Given the description of an element on the screen output the (x, y) to click on. 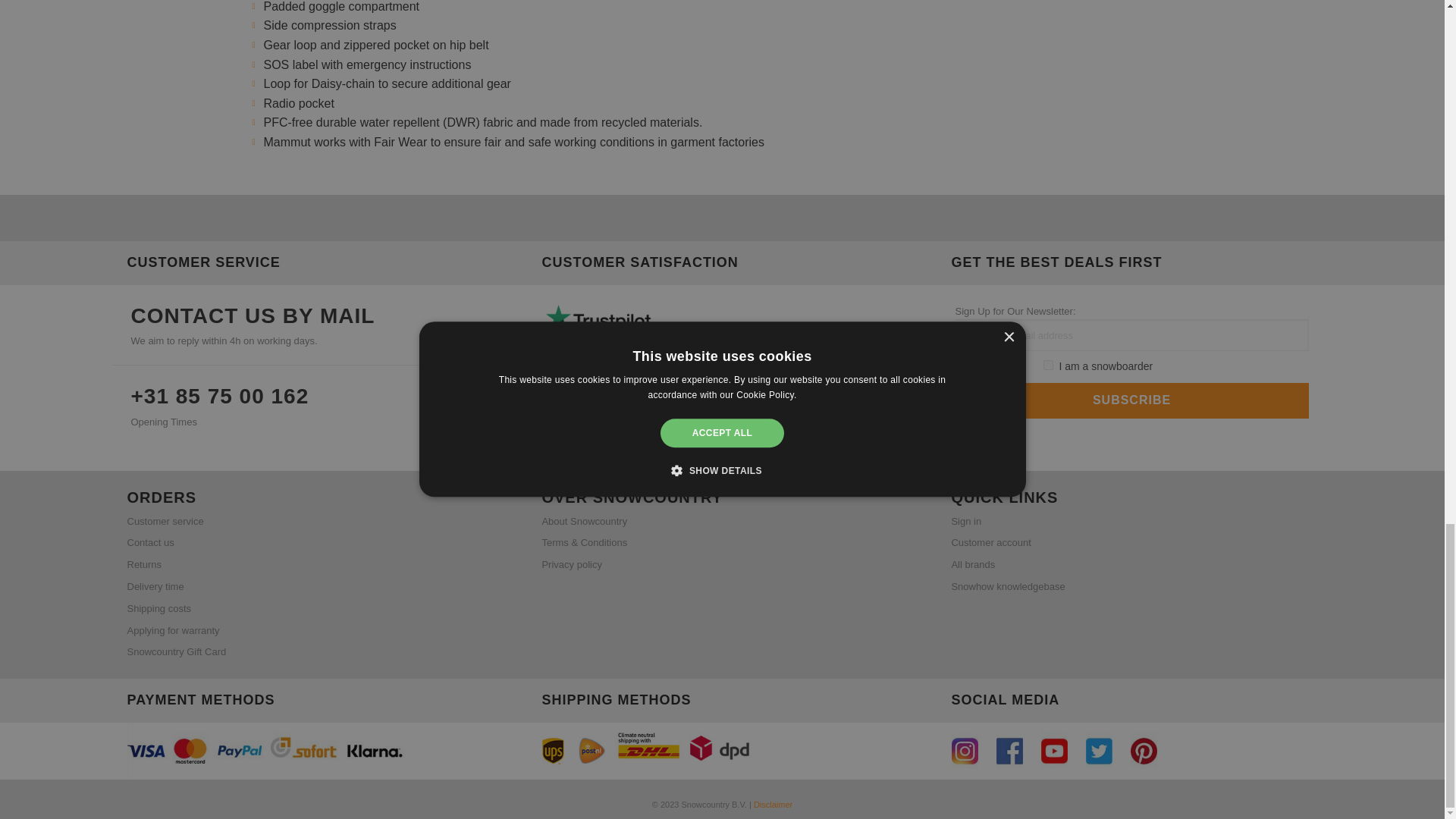
on (1047, 365)
on (960, 365)
